Given the description of an element on the screen output the (x, y) to click on. 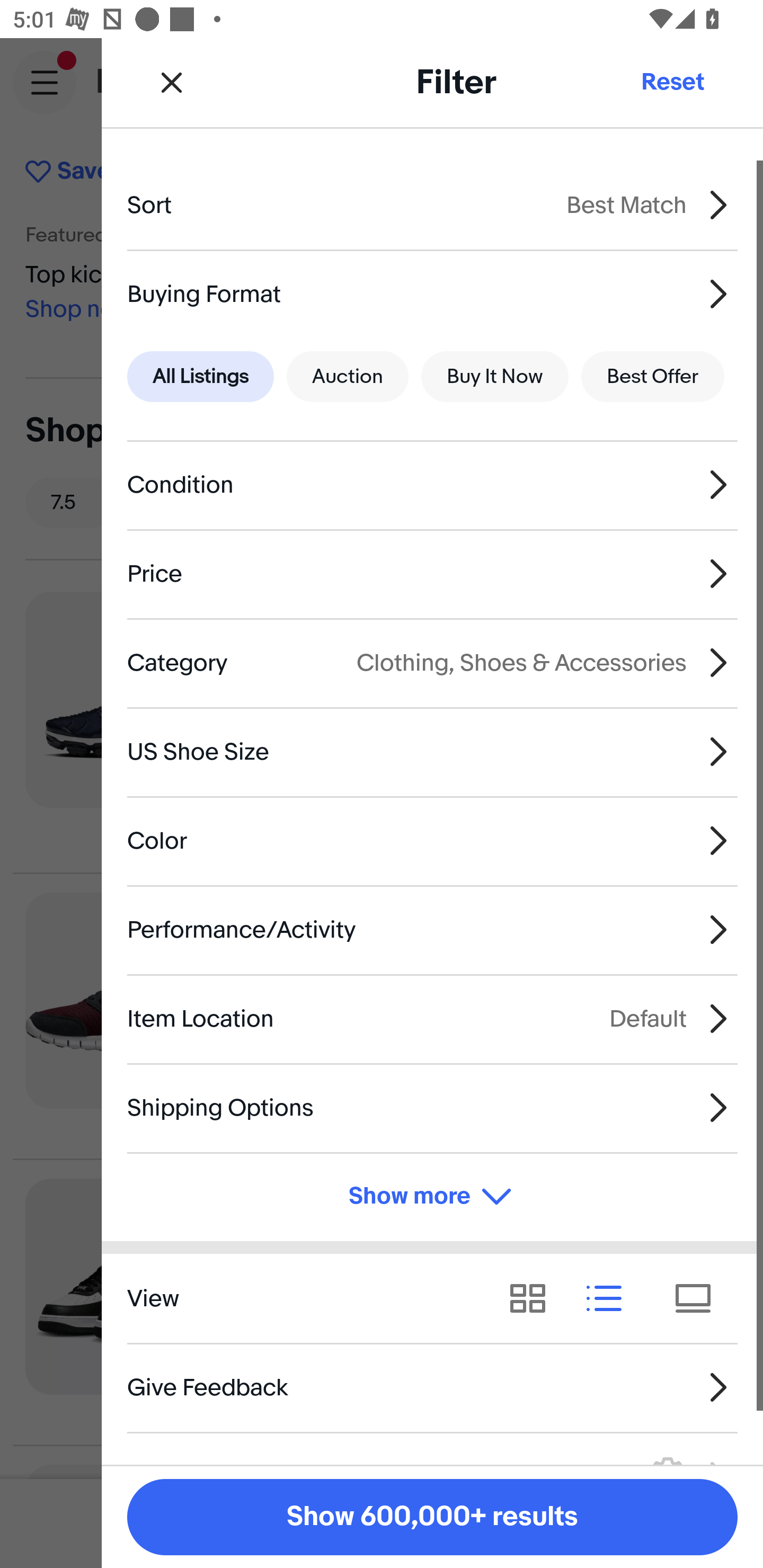
Close Filter (171, 81)
Reset (672, 81)
Buying Format (432, 293)
All Listings (200, 376)
Auction (347, 376)
Buy It Now (494, 376)
Best Offer (652, 376)
Condition (432, 484)
Price (432, 573)
Category Clothing, Shoes & Accessories (432, 662)
US Shoe Size (432, 751)
Color (432, 840)
Performance/Activity (432, 929)
Item Location Default (432, 1018)
Shipping Options (432, 1107)
Show more (432, 1196)
View results as grid (533, 1297)
View results as list (610, 1297)
View results as tiles (699, 1297)
